Given the description of an element on the screen output the (x, y) to click on. 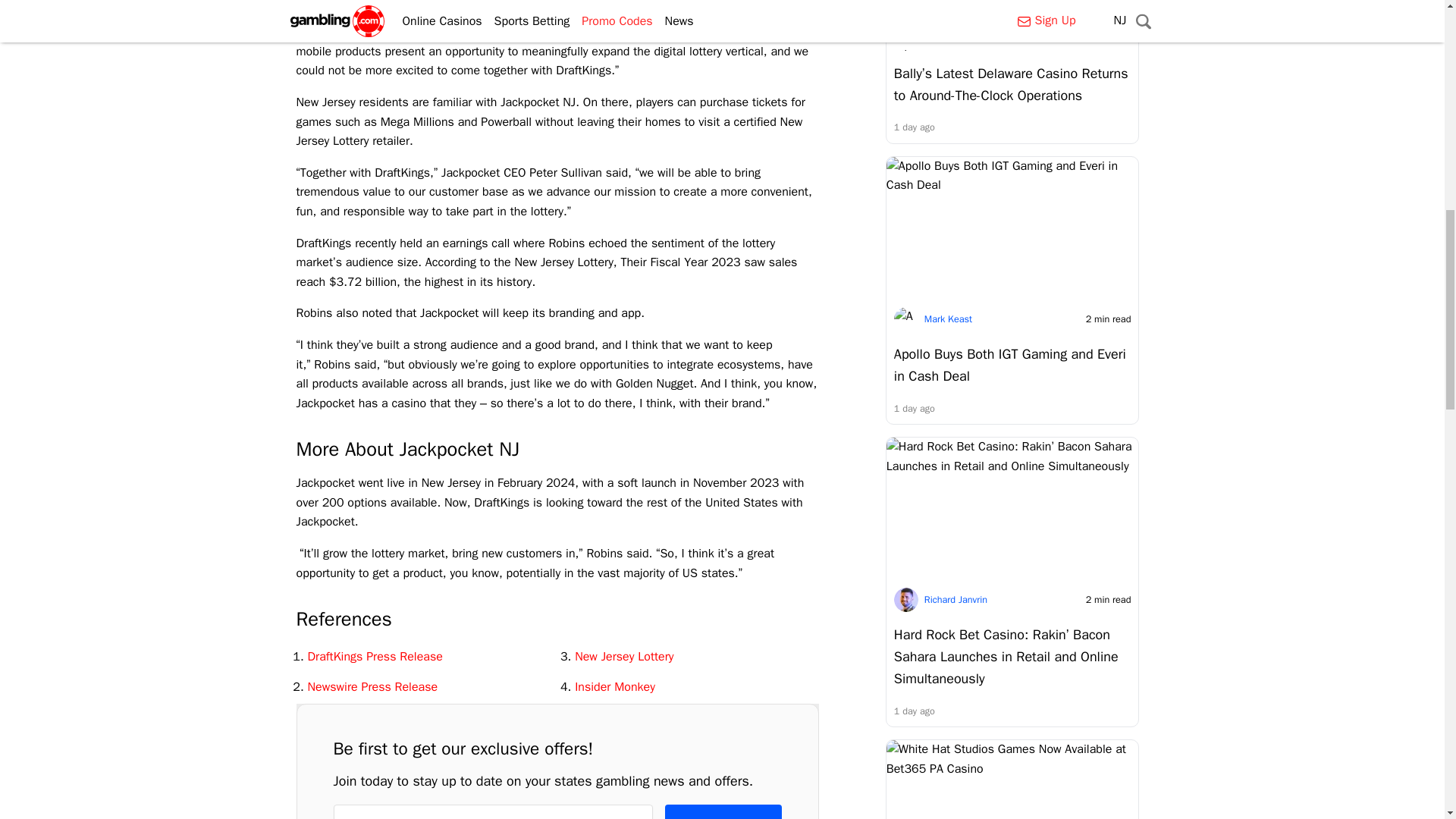
Mark Keast (948, 318)
Mark Keast (948, 38)
Richard Janvrin (955, 599)
